Given the description of an element on the screen output the (x, y) to click on. 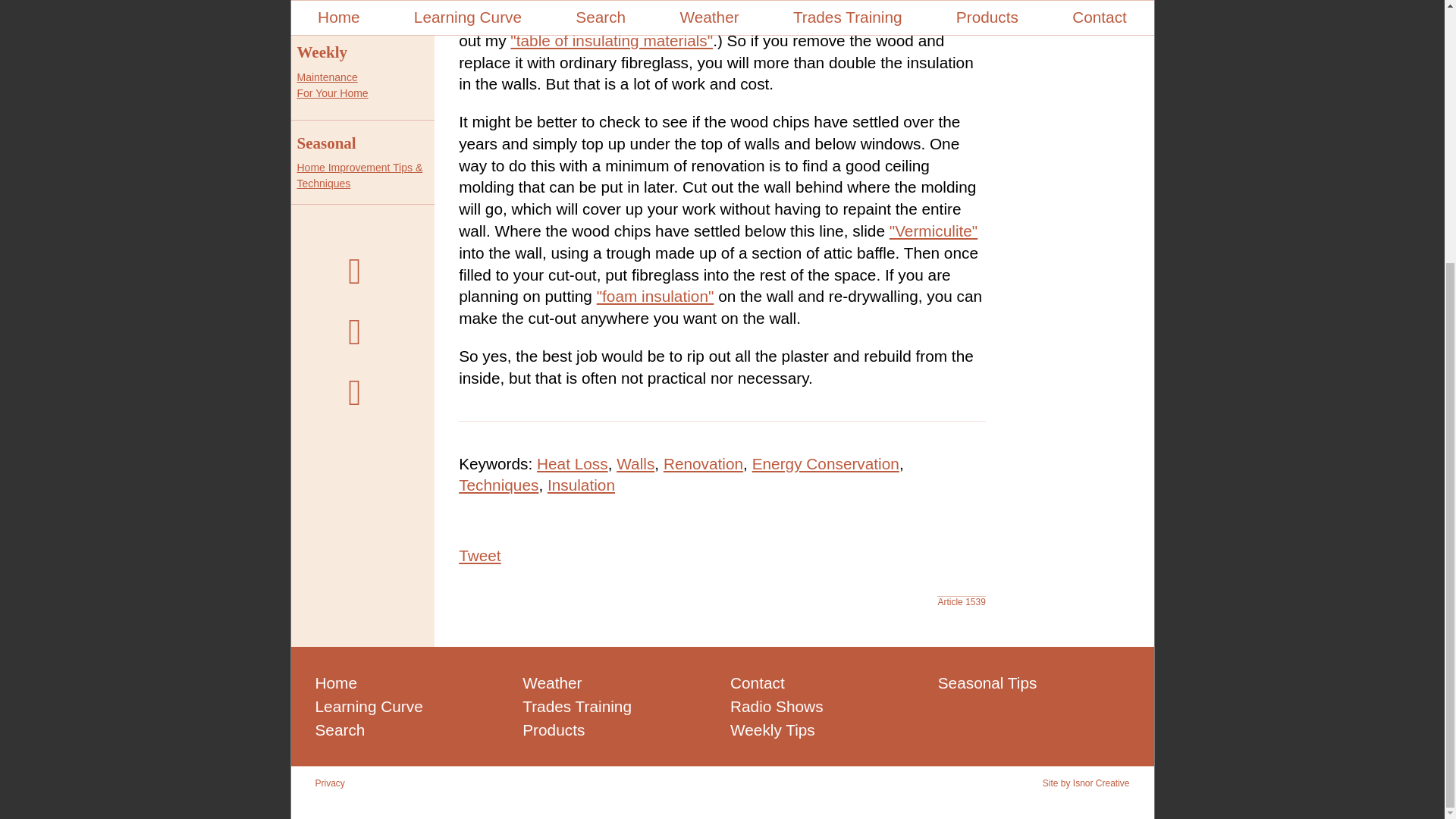
Heat Loss (572, 463)
"foam insulation" (655, 295)
Weekly (332, 85)
Insulation (322, 52)
Energy Conservation (580, 484)
Tweet (825, 463)
"table of insulating materials" (479, 555)
Techniques (612, 40)
"Vermiculite" (498, 484)
